Given the description of an element on the screen output the (x, y) to click on. 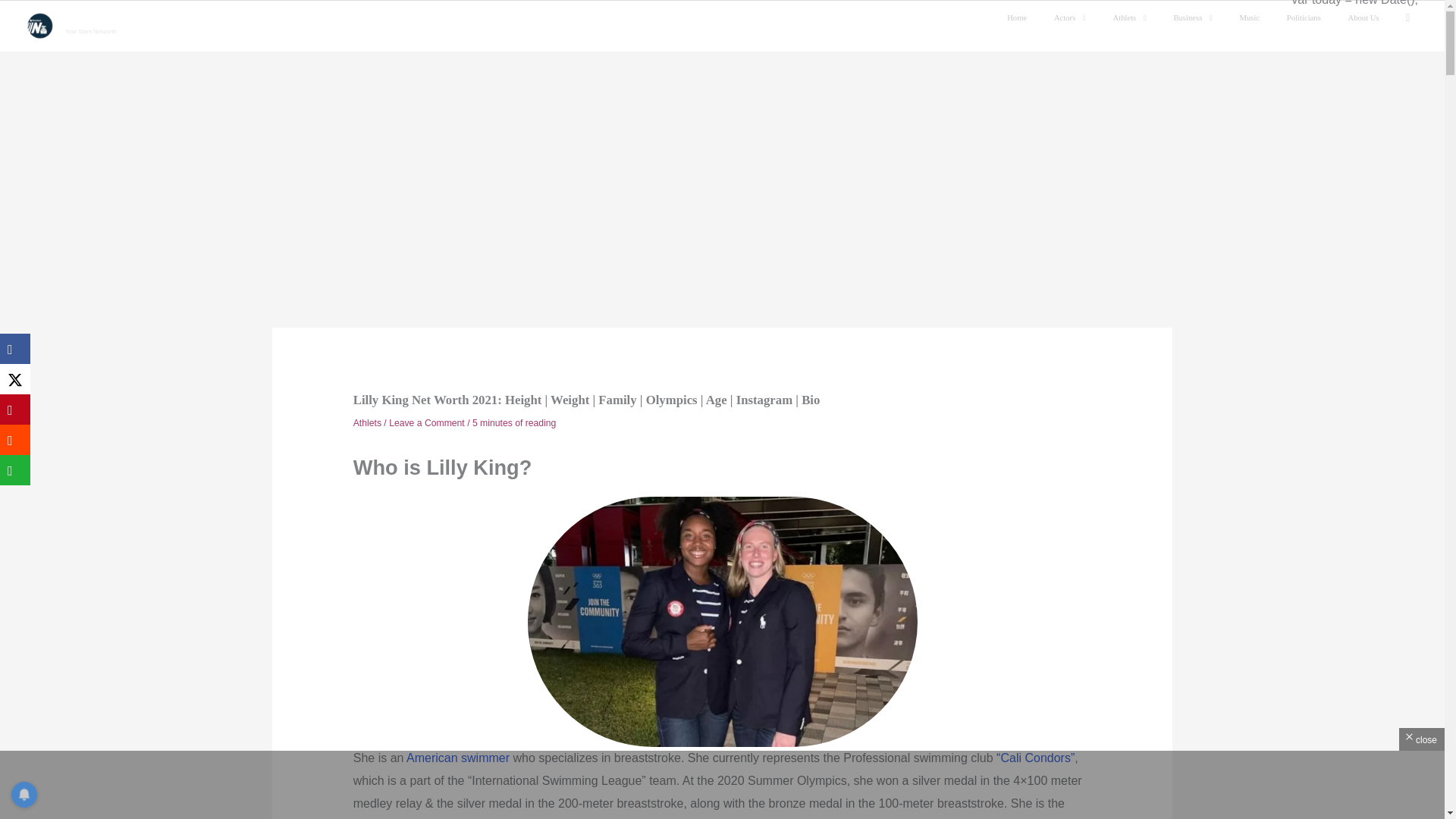
Athlets (1135, 17)
Politicians (1308, 17)
Business (1198, 17)
Music (1254, 17)
Stardom Networth (100, 20)
About Us (1368, 17)
Home (1022, 17)
Actors (1075, 17)
